Given the description of an element on the screen output the (x, y) to click on. 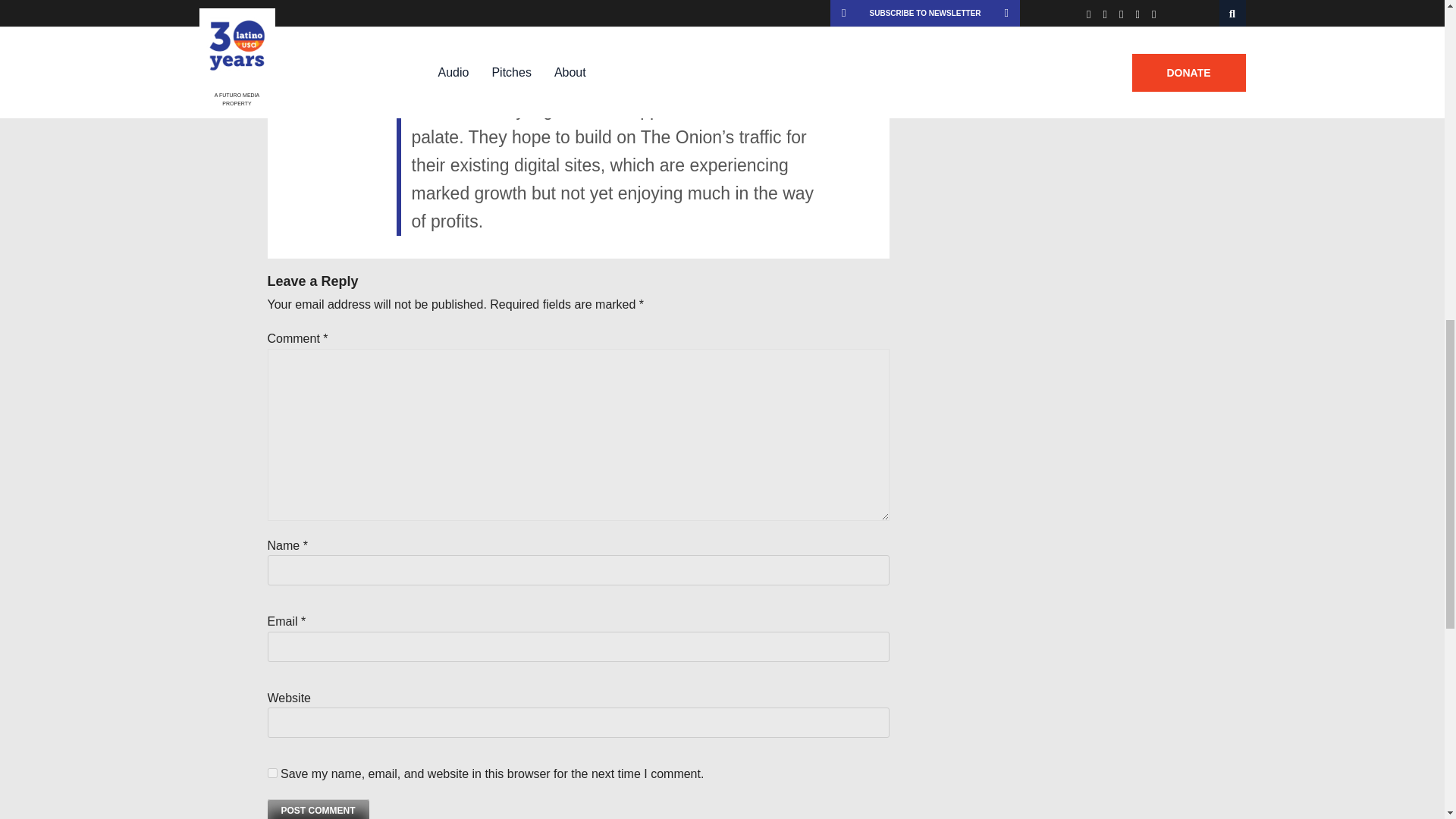
yes (271, 773)
Post Comment (317, 809)
Post Comment (317, 809)
